Given the description of an element on the screen output the (x, y) to click on. 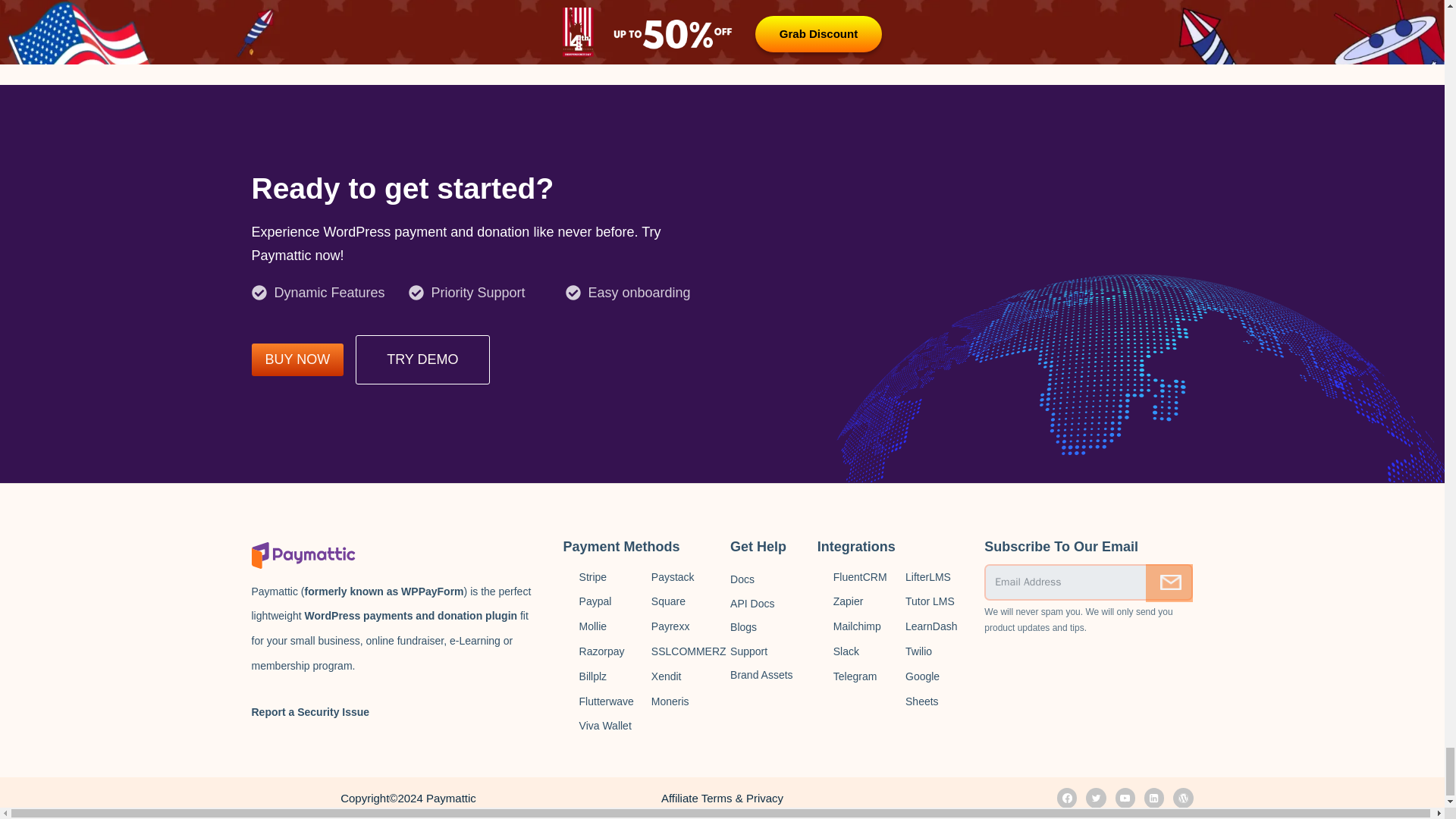
Post Comment (310, 2)
